Given the description of an element on the screen output the (x, y) to click on. 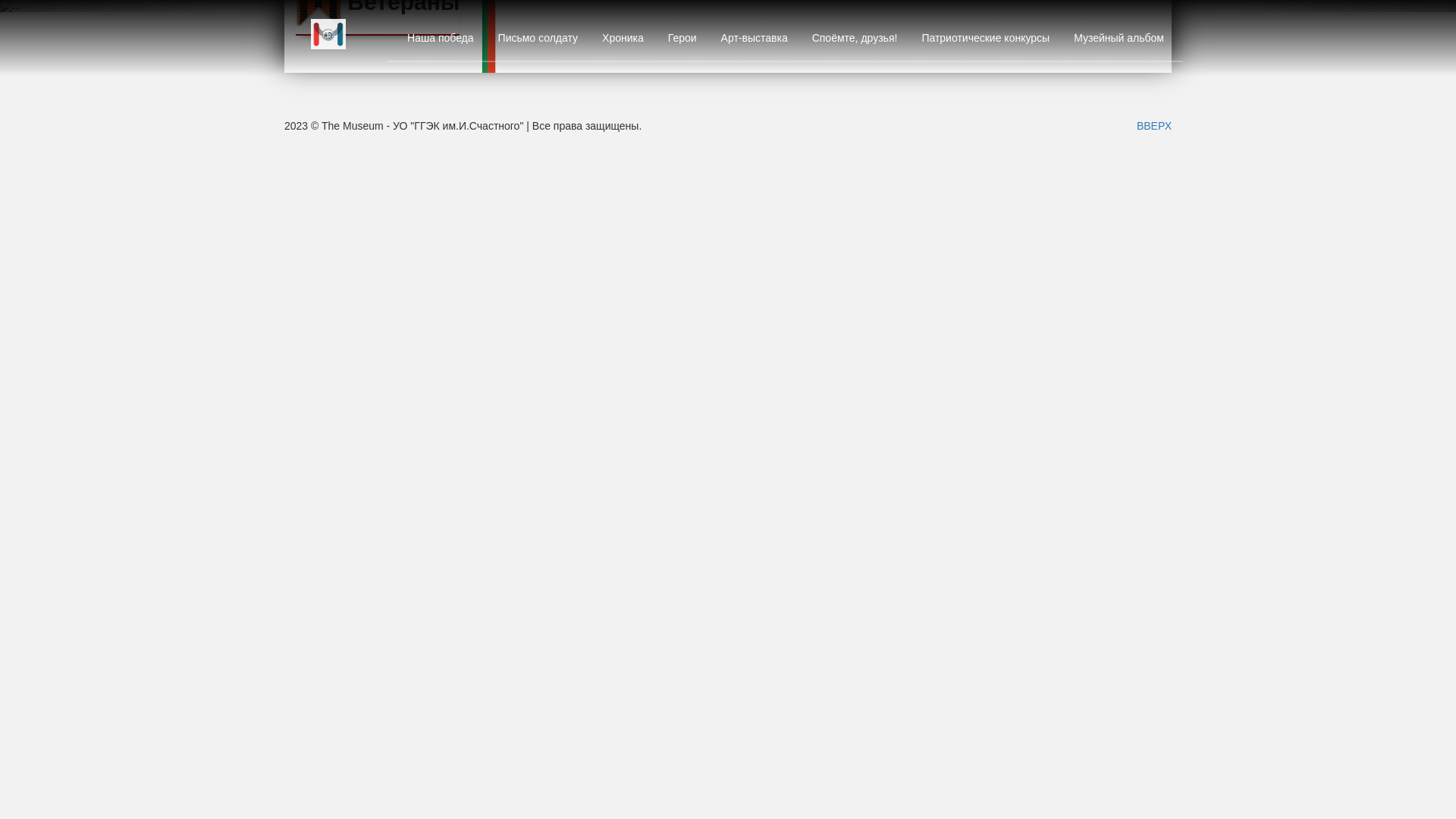
Previous Element type: text (109, 6)
